Given the description of an element on the screen output the (x, y) to click on. 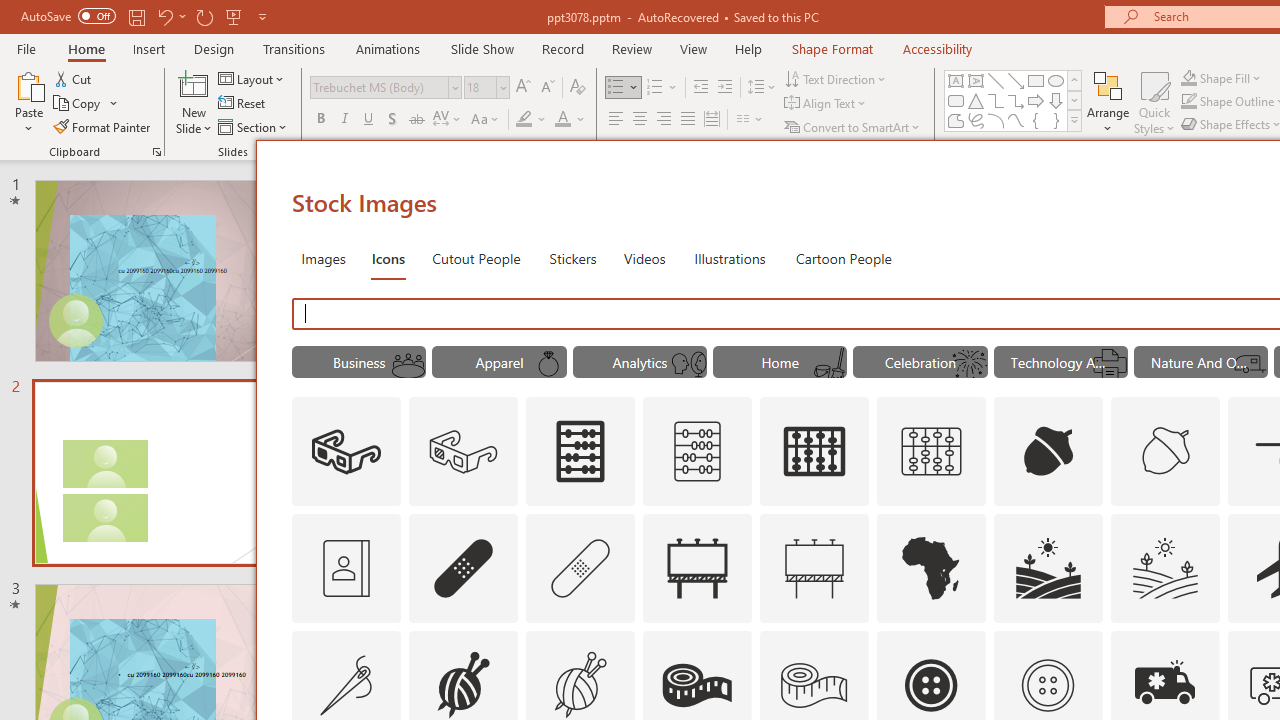
Videos (644, 258)
AutomationID: Icons_AddressBook_RTL_M (346, 568)
Distributed (712, 119)
Right Brace (1055, 120)
